Given the description of an element on the screen output the (x, y) to click on. 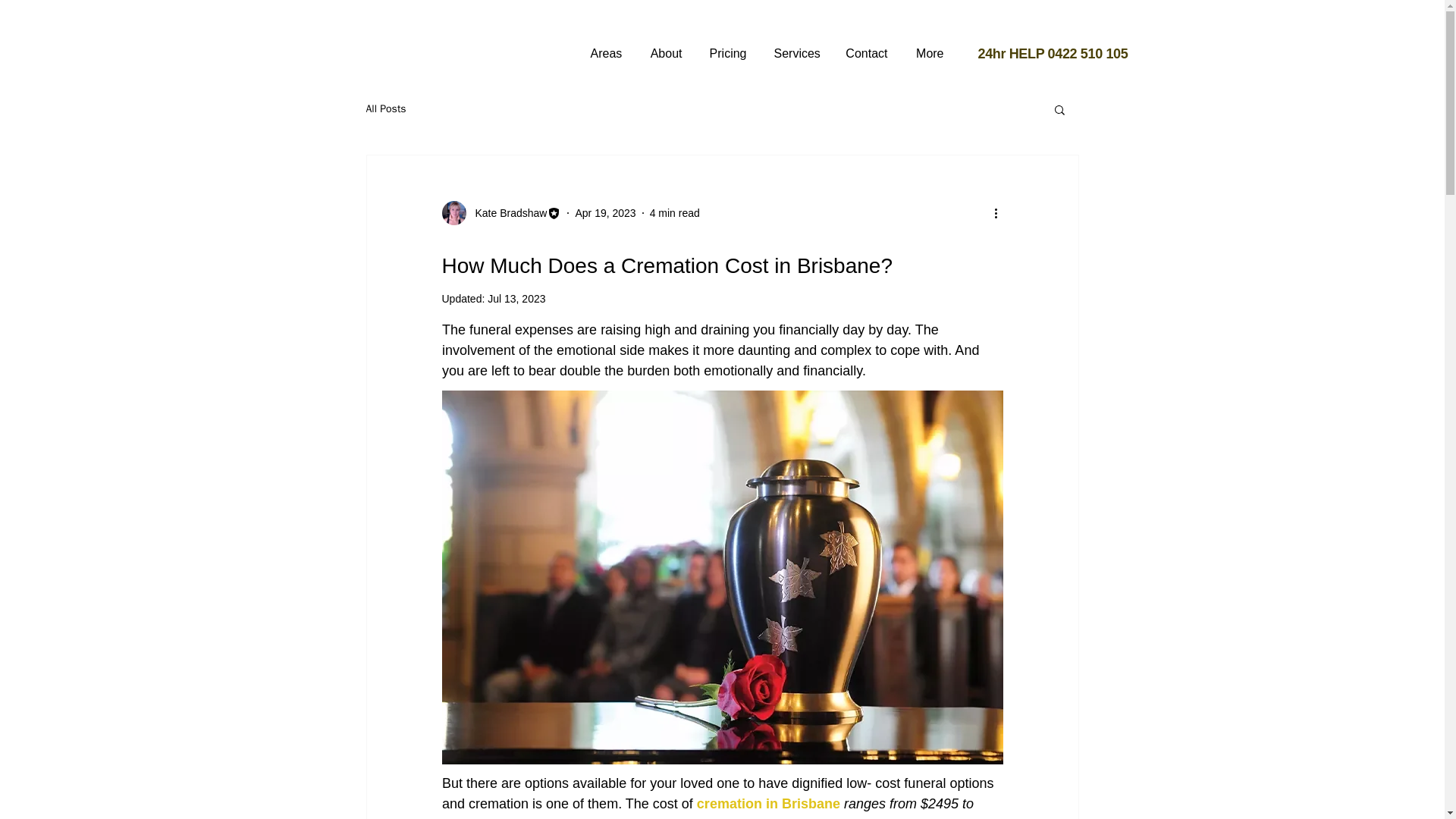
Kate Bradshaw (506, 213)
4 min read (674, 213)
Areas (604, 46)
Contact (866, 46)
Kate Bradshaw (500, 212)
Pricing (727, 46)
Jul 13, 2023 (515, 298)
Services (795, 46)
Solace Family Funera (652, 817)
All Posts (385, 109)
About (664, 46)
Apr 19, 2023 (604, 213)
cremation in Brisbane (767, 803)
